Given the description of an element on the screen output the (x, y) to click on. 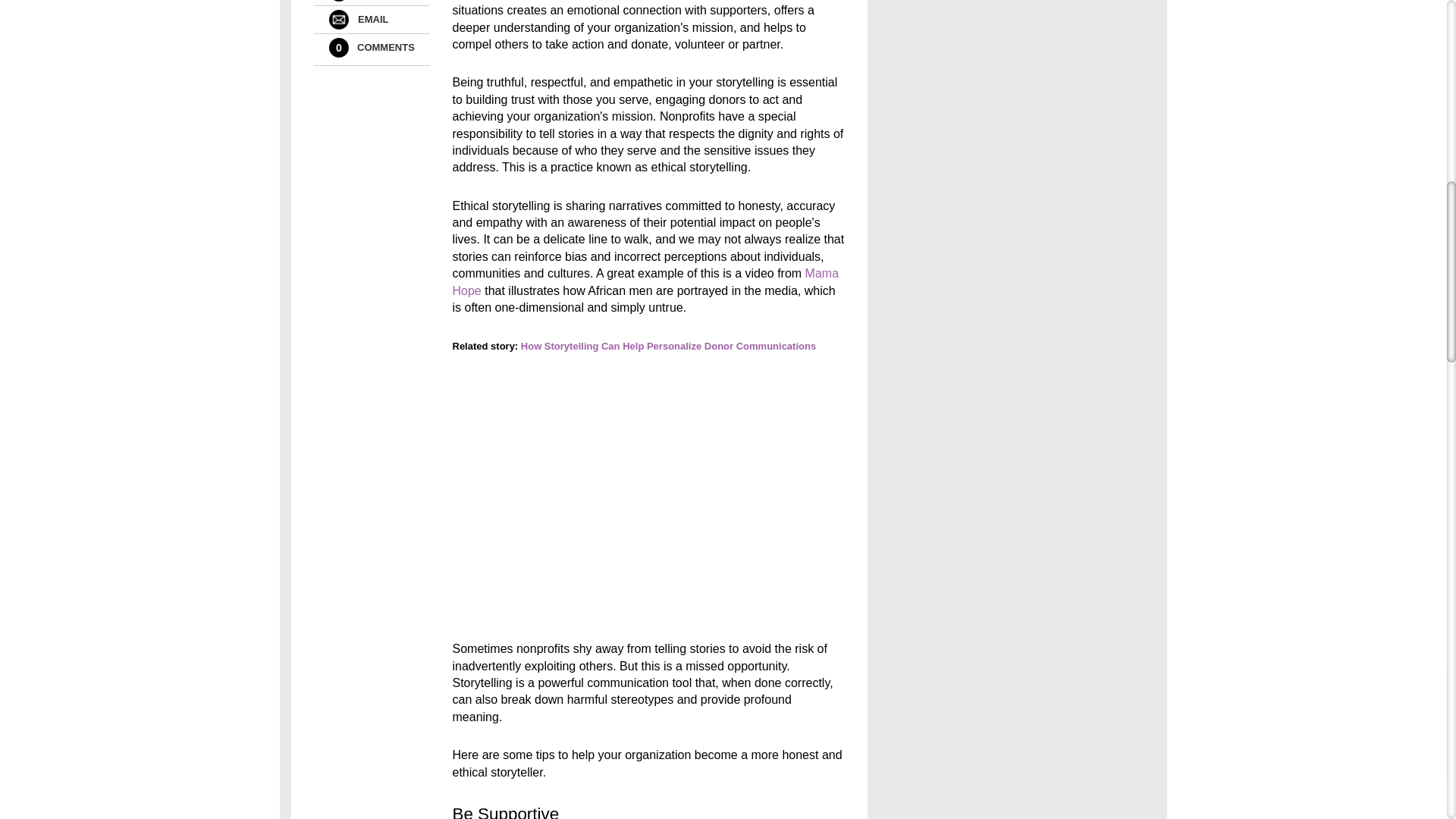
Opens in a new window (644, 281)
Email Link (339, 19)
LinkedIn (339, 0)
